Given the description of an element on the screen output the (x, y) to click on. 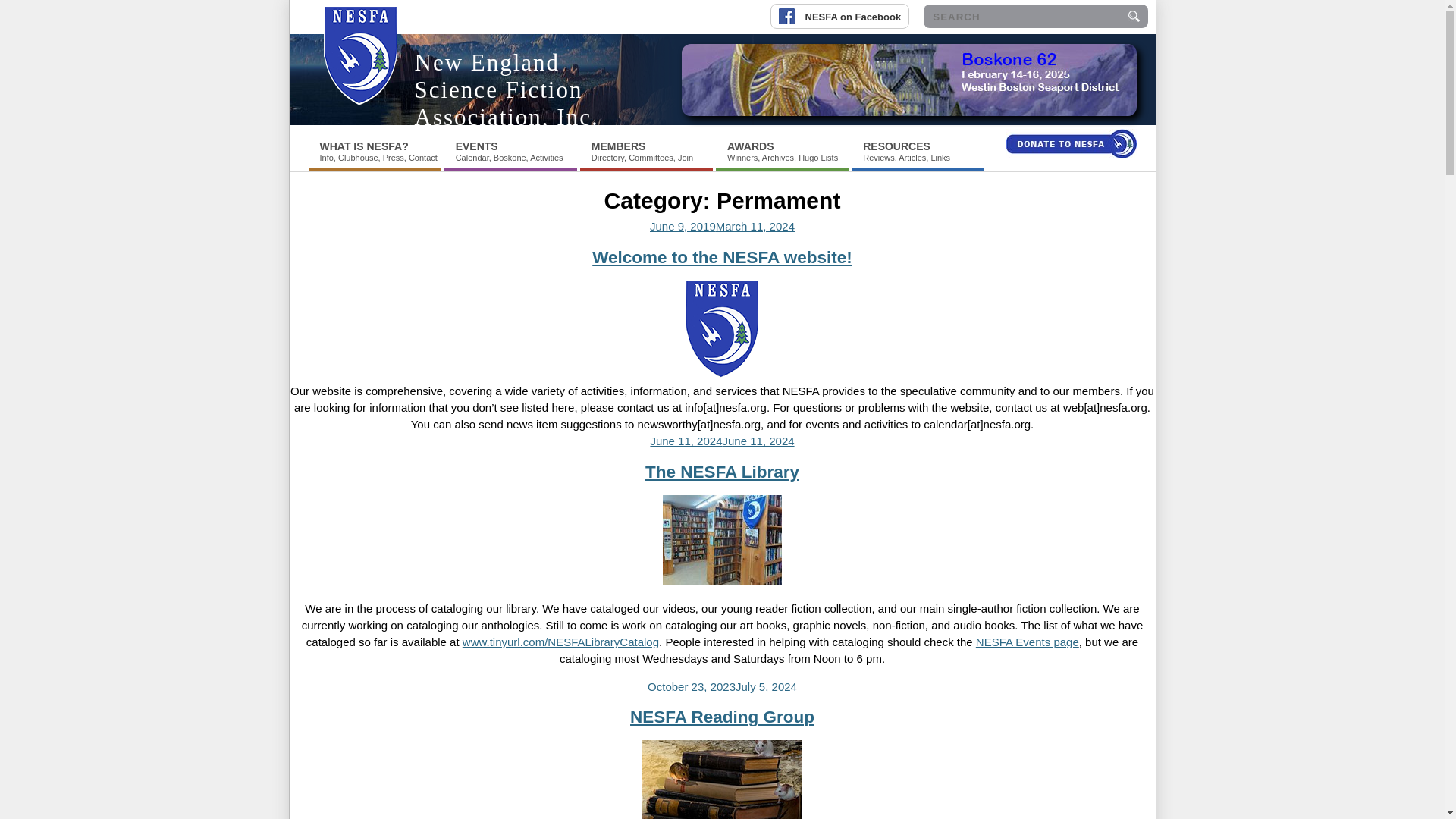
New England Science Fiction Association, Inc. (505, 89)
EVENTS (476, 146)
WHAT IS NESFA? (364, 146)
MEMBERS (618, 146)
AWARDS (749, 146)
NESFA on Facebook (845, 9)
submit (1133, 15)
RESOURCES (896, 146)
